Given the description of an element on the screen output the (x, y) to click on. 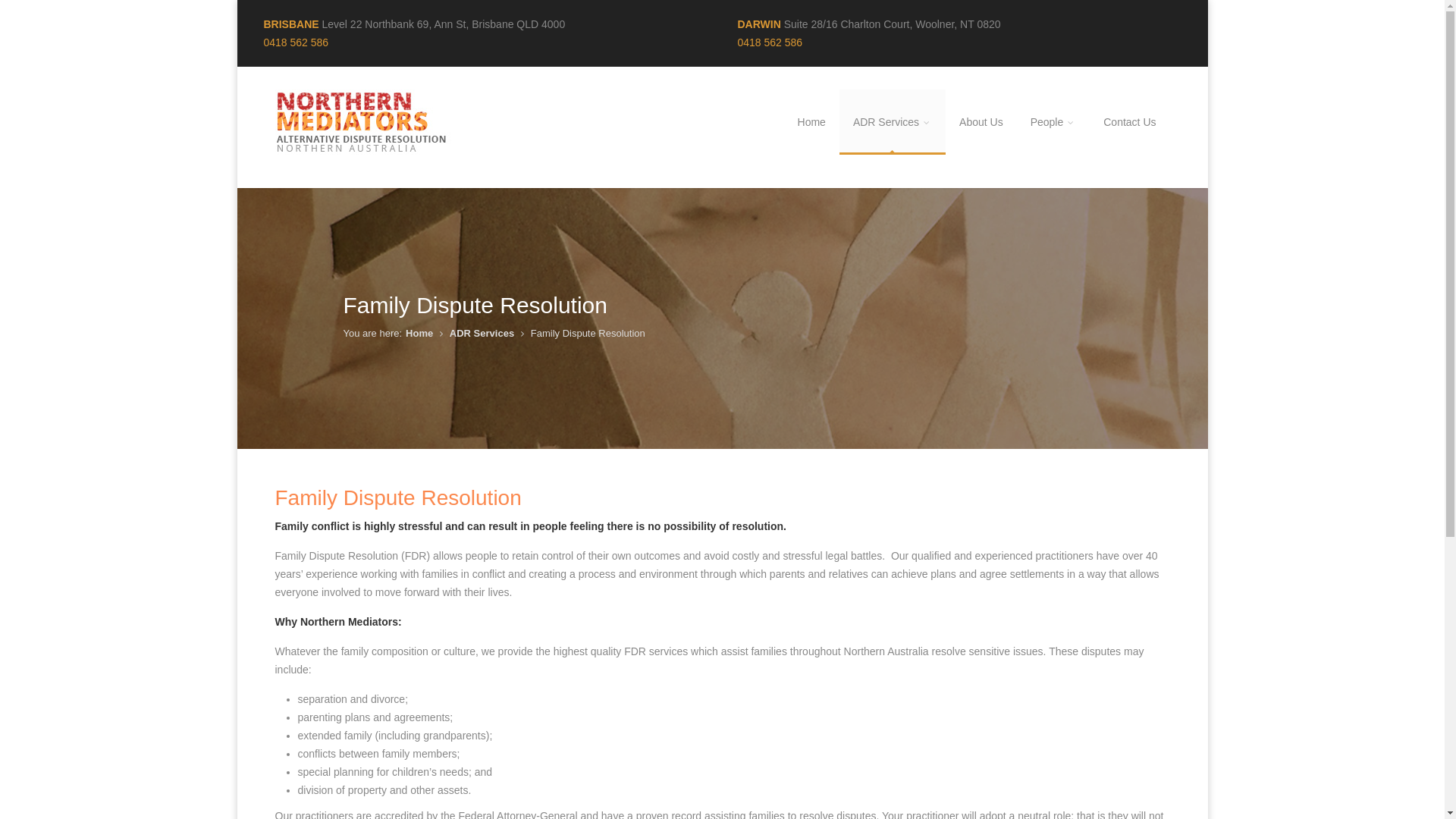
ADR Services Element type: text (481, 332)
Home Element type: text (419, 332)
About Us Element type: text (980, 121)
0418 562 586 Element type: text (296, 42)
People Element type: text (1053, 121)
Contact Us Element type: text (1129, 121)
0418 562 586 Element type: text (769, 42)
Home Element type: text (811, 121)
ADR Services Element type: text (892, 121)
